Given the description of an element on the screen output the (x, y) to click on. 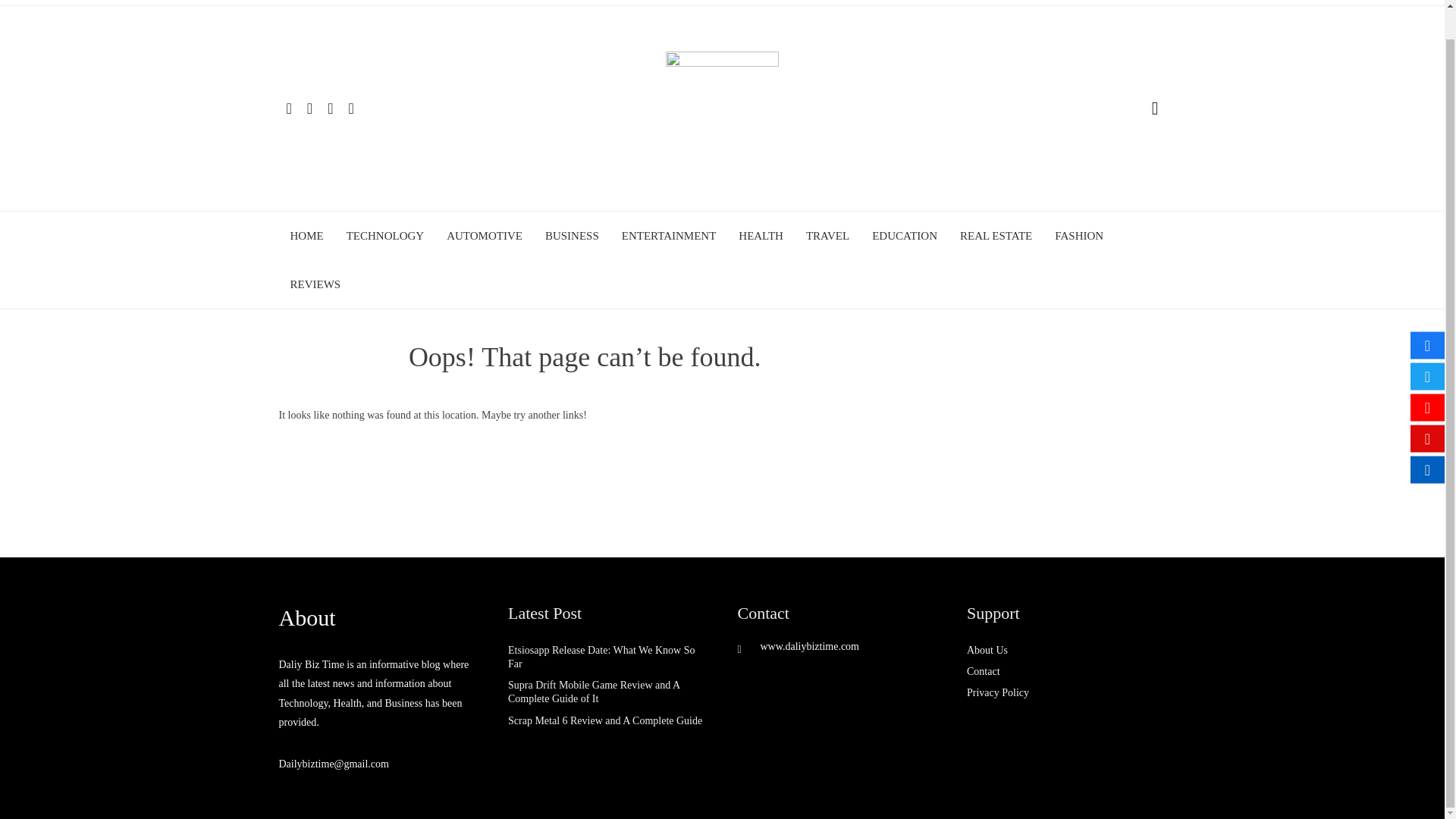
Supra Drift Mobile Game Review and A Complete Guide of It (593, 691)
REAL ESTATE (995, 235)
Privacy Policy (997, 692)
BUSINESS (571, 235)
TECHNOLOGY (385, 235)
Scrap Metal 6 Review and A Complete Guide (604, 720)
HEALTH (760, 235)
REVIEWS (314, 283)
About Us (986, 650)
EDUCATION (904, 235)
